Given the description of an element on the screen output the (x, y) to click on. 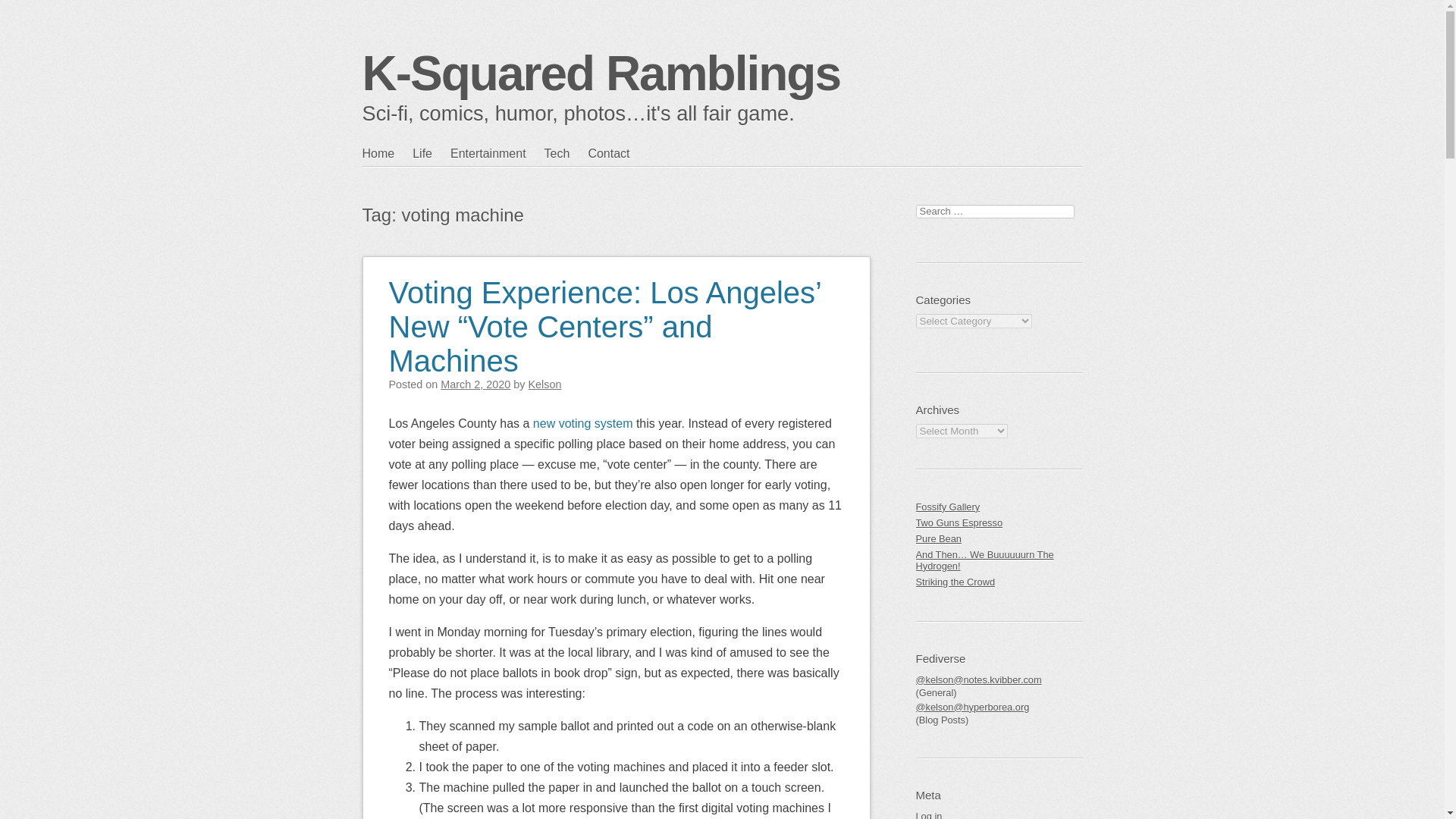
March 2, 2020 (476, 384)
K-Squared Ramblings (601, 72)
Contact (617, 153)
Entertainment (496, 153)
new voting system (582, 422)
Main menu (435, 183)
Tech (566, 153)
K-Squared Ramblings (601, 72)
Home (387, 153)
Kelson (545, 384)
Life (430, 153)
View all posts by Kelson (545, 384)
10:23 AM (476, 384)
